Given the description of an element on the screen output the (x, y) to click on. 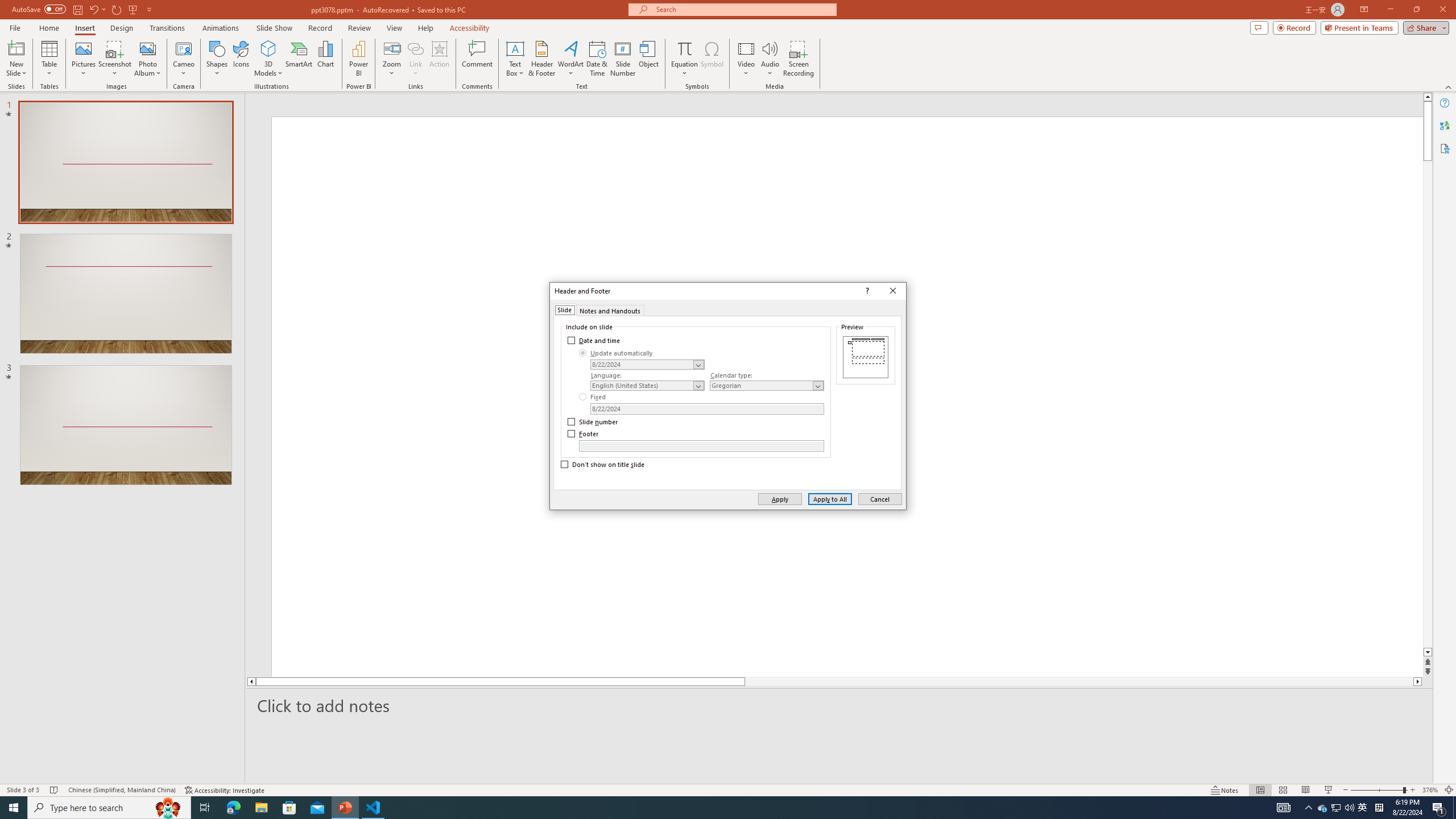
Footer (701, 445)
SmartArt... (298, 58)
